Given the description of an element on the screen output the (x, y) to click on. 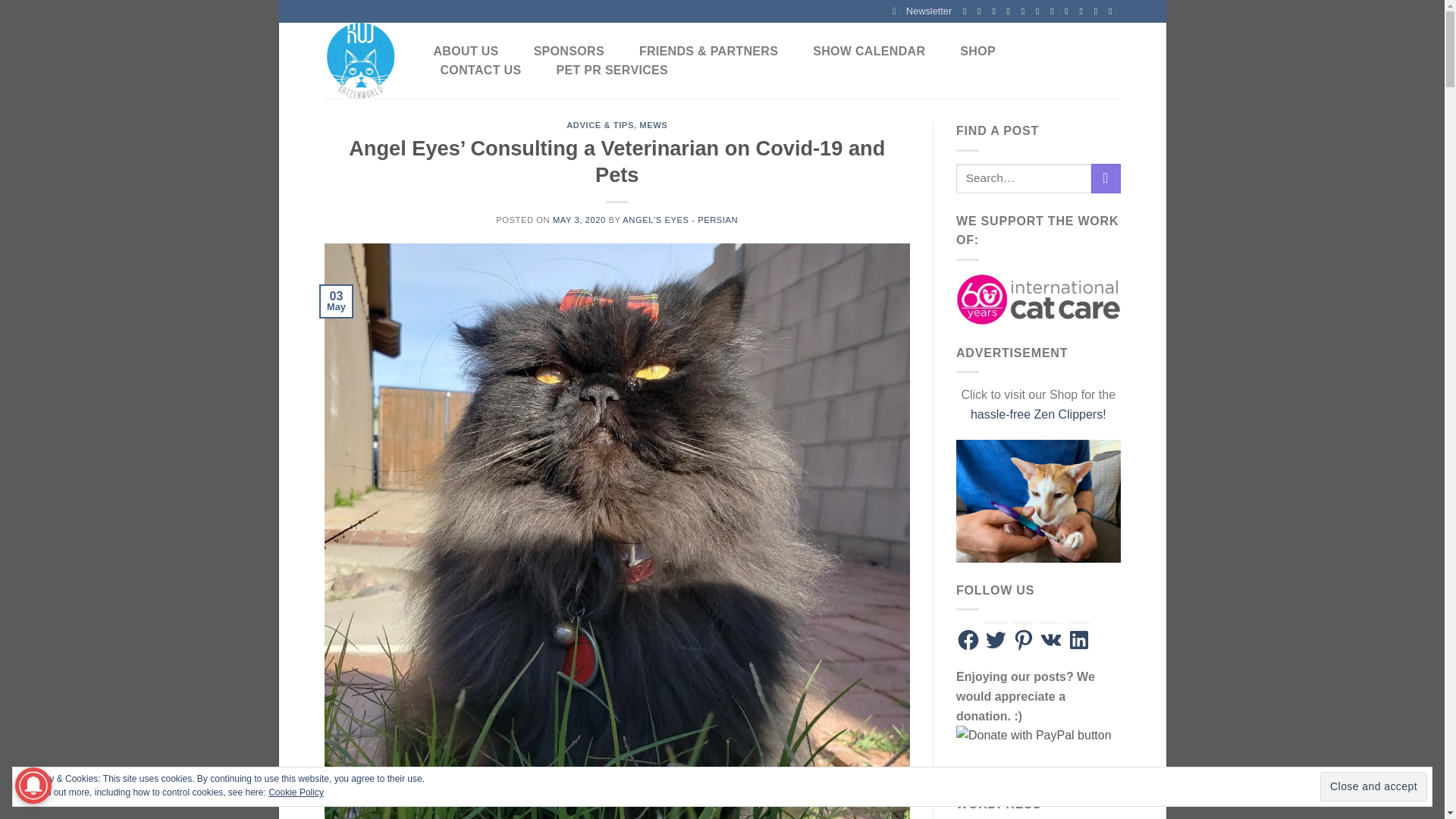
PET PR SERVICES (611, 70)
Sign up for Newsletter (922, 11)
ABOUT US (466, 51)
CONTACT US (480, 70)
SPONSORS (568, 51)
Newsletter (922, 11)
SHOW CALENDAR (869, 51)
